Given the description of an element on the screen output the (x, y) to click on. 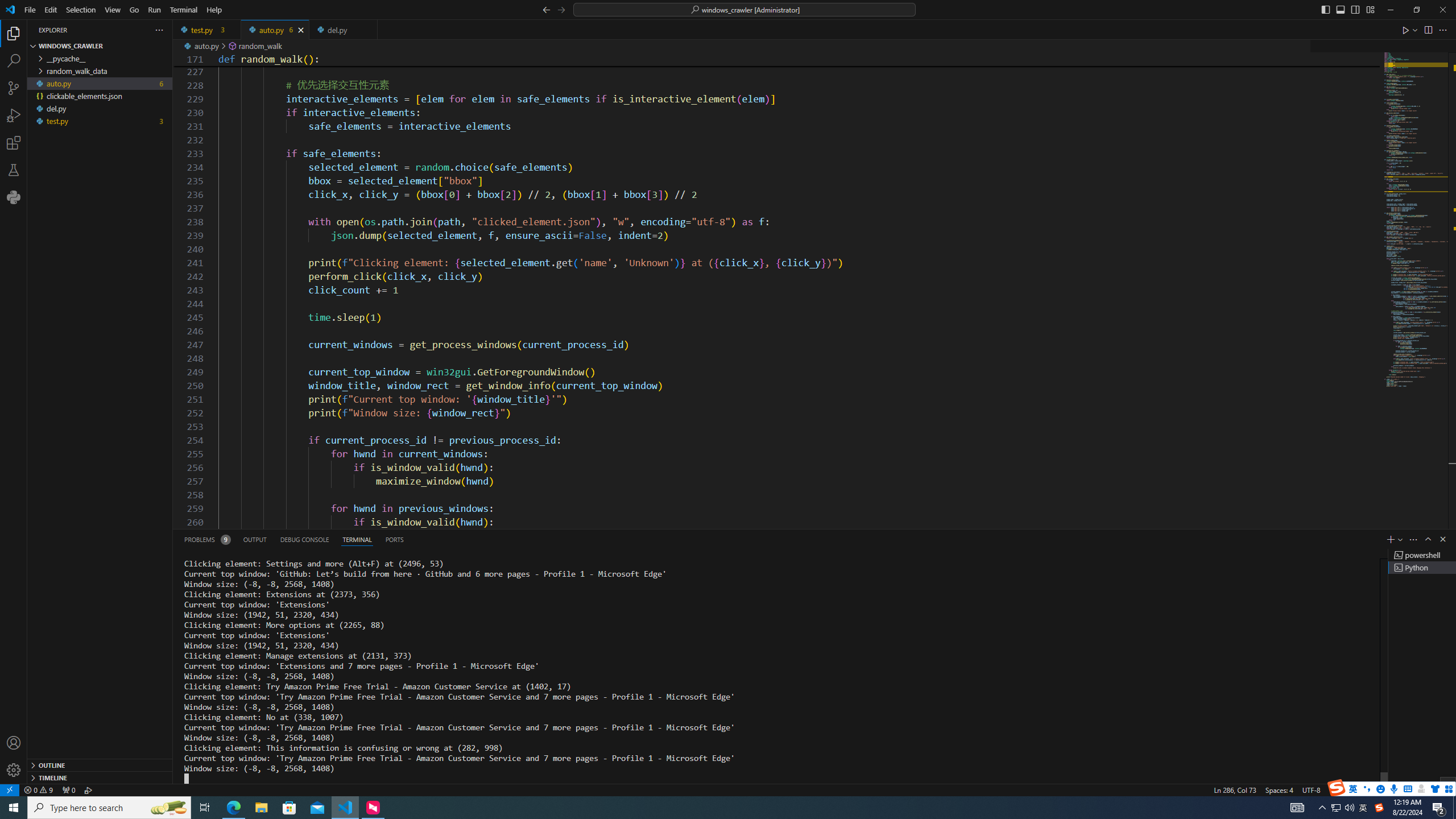
Terminal (Ctrl+`) (356, 539)
Run (153, 9)
Terminal (183, 9)
Timeline Section (99, 777)
View (112, 9)
No Ports Forwarded (68, 789)
Search (Ctrl+Shift+F) (13, 60)
Editor actions (1425, 29)
Debug:  (88, 789)
Selection (80, 9)
CRLF (1336, 789)
